Given the description of an element on the screen output the (x, y) to click on. 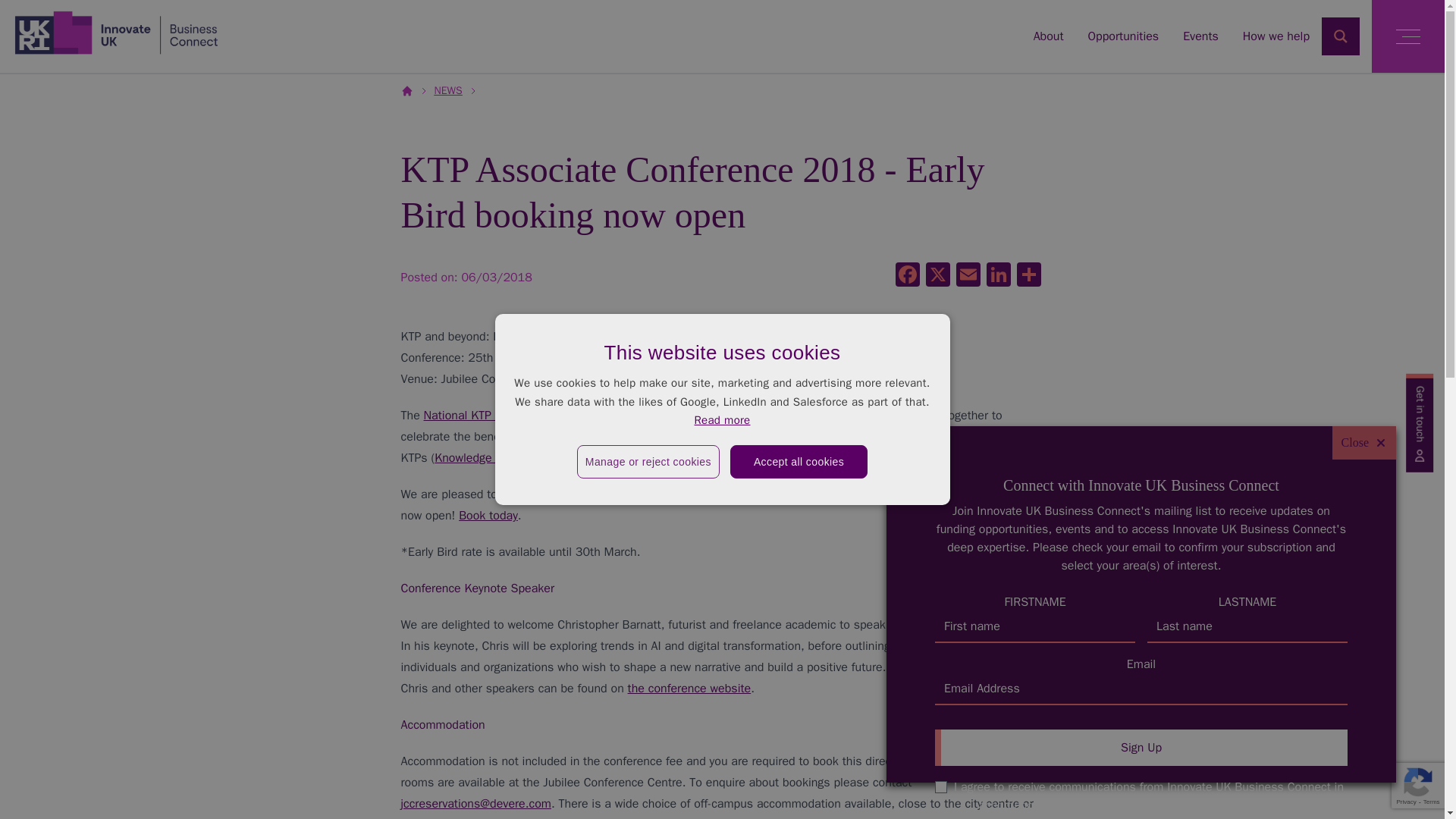
LinkedIn (997, 276)
Email (967, 276)
Opportunities (1122, 36)
About (1048, 36)
Facebook (906, 276)
Events (1200, 36)
How we help (1275, 36)
on (940, 787)
X (936, 276)
Sign Up (1141, 747)
Home (116, 32)
